Given the description of an element on the screen output the (x, y) to click on. 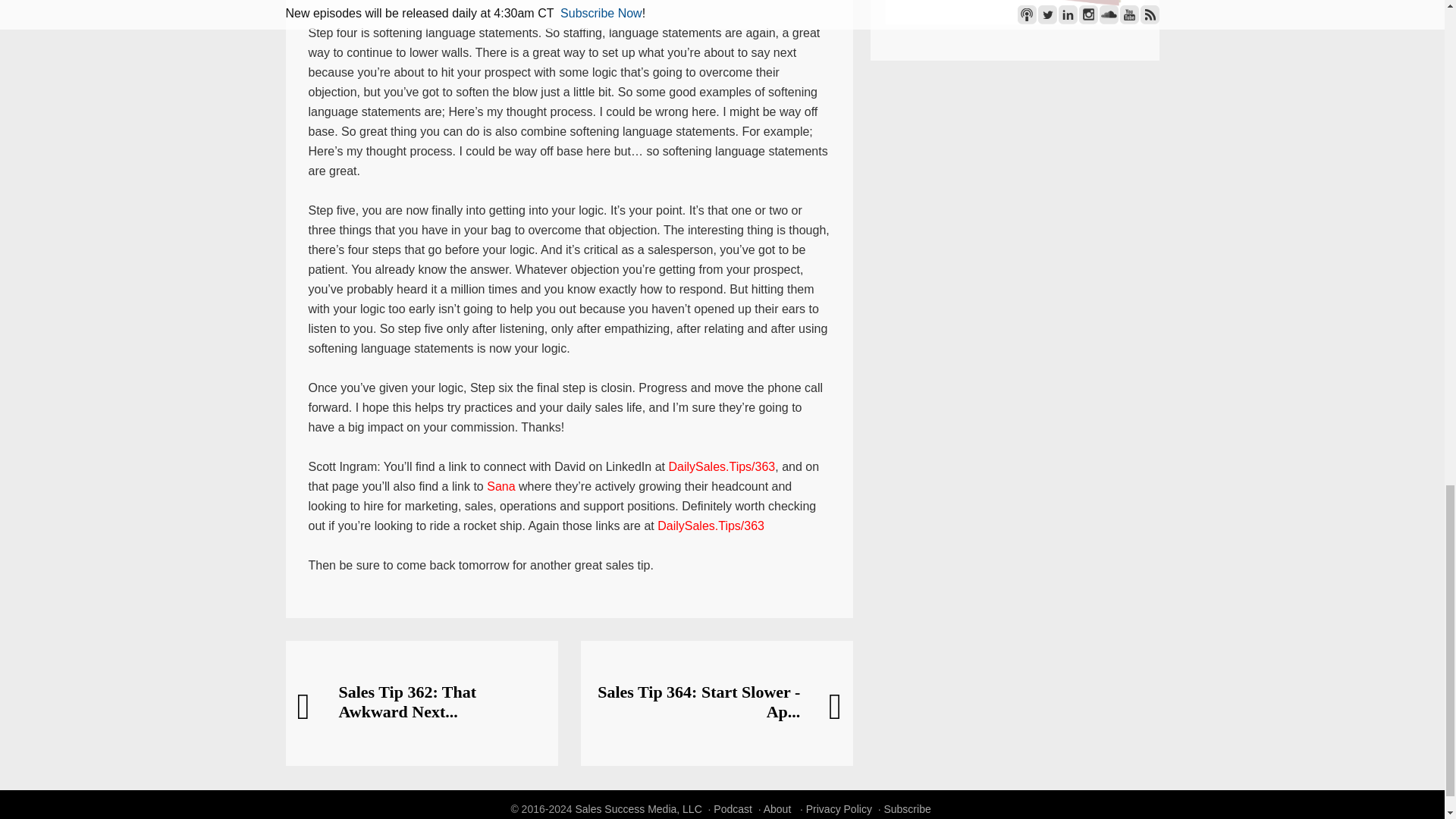
Sales Success Media, LLC (638, 808)
Sana (500, 486)
About (777, 808)
Privacy Policy (839, 808)
Podcast (732, 808)
Subscribe (906, 808)
